Given the description of an element on the screen output the (x, y) to click on. 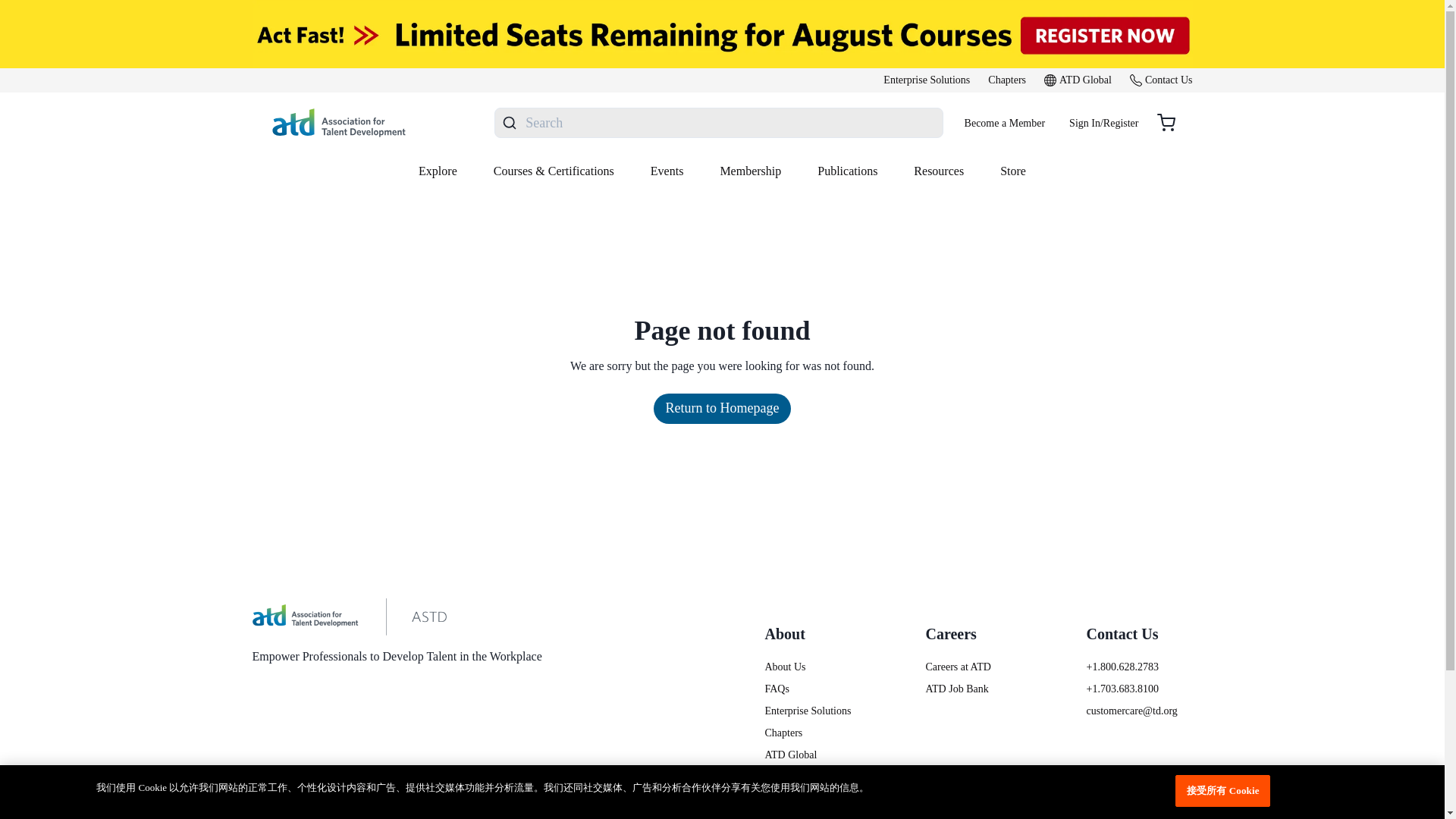
Careers at ATD (977, 666)
Membership (750, 172)
ATD Press Room (817, 776)
Chapters (1007, 79)
Enterprise Solutions (817, 710)
ATD Global (817, 754)
FAQs (817, 688)
Advertise With Us (817, 816)
Publications (847, 172)
Enterprise Solutions (926, 79)
ATD Global (1077, 79)
Become a Member (1005, 122)
Store (817, 798)
Store (1013, 172)
Chapters (817, 732)
